Given the description of an element on the screen output the (x, y) to click on. 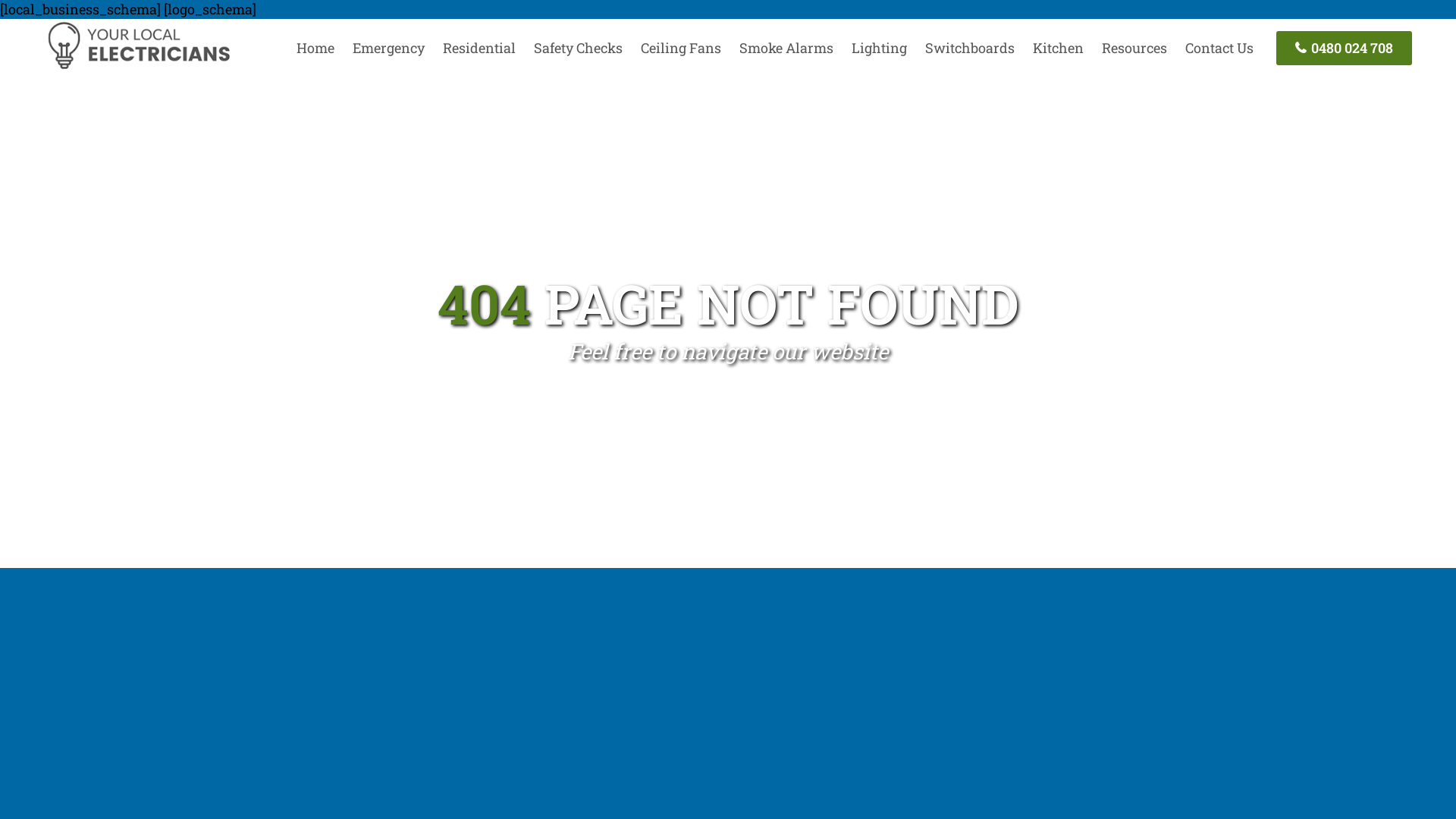
Residential Element type: text (479, 47)
Contact Us Element type: text (1219, 47)
Resources Element type: text (1134, 47)
Smoke Alarms Element type: text (785, 47)
Emergency Element type: text (388, 47)
Kitchen Element type: text (1058, 47)
0480 024 708 Element type: text (1344, 48)
Electricians Element type: hover (137, 66)
Lighting Element type: text (879, 47)
Safety Checks Element type: text (578, 47)
Switchboards Element type: text (969, 47)
Home Element type: text (315, 47)
Ceiling Fans Element type: text (680, 47)
